Given the description of an element on the screen output the (x, y) to click on. 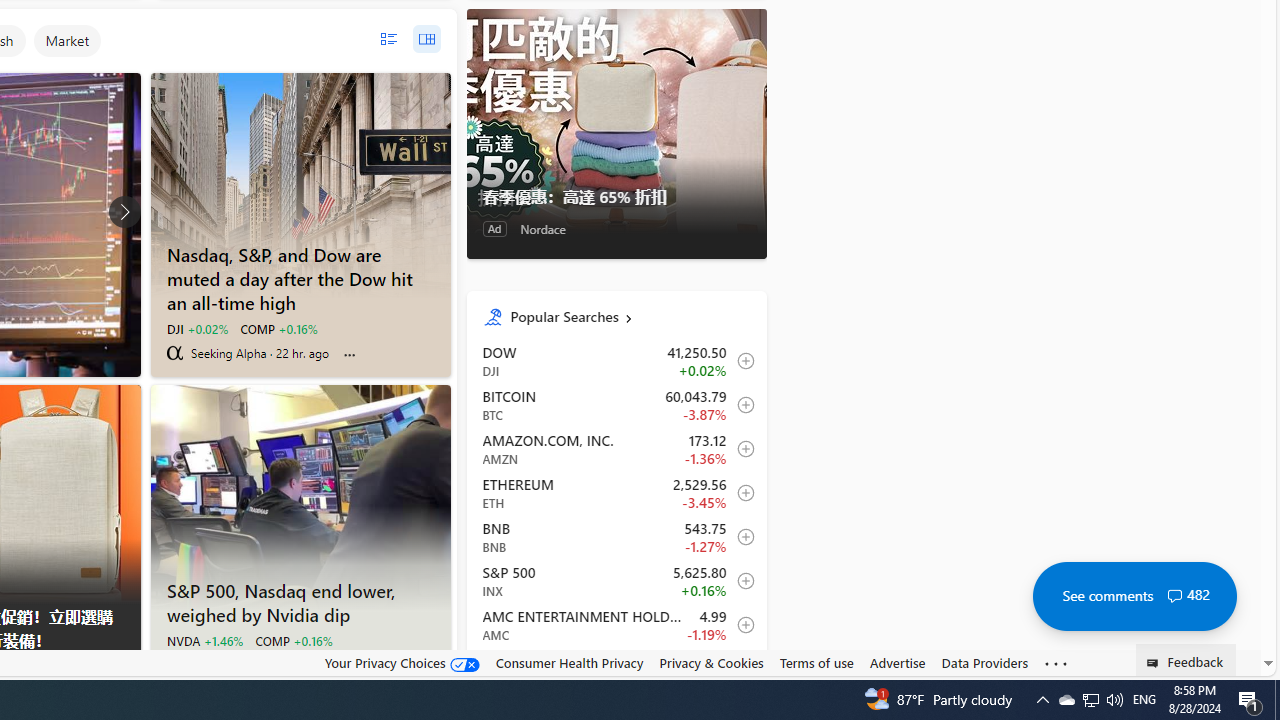
Class: feedback_link_icon-DS-EntryPoint1-1 (1156, 663)
Data Providers (983, 663)
COMP +0.16% (292, 640)
Privacy & Cookies (711, 663)
Consumer Health Privacy (569, 663)
Class: oneFooter_seeMore-DS-EntryPoint1-1 (1055, 663)
DJI +0.02% (196, 328)
Consumer Health Privacy (569, 662)
S&P 500, Nasdaq end lower, weighed by Nvidia dip - Reuters (299, 497)
AdChoices (123, 668)
S&P 500, Nasdaq end lower, weighed by Nvidia dip - Reuters (300, 600)
INX S&P 500 increase 5,625.80 +8.96 +0.16% itemundefined (615, 580)
ETH Ethereum decrease 2,529.56 -87.30 -3.45% itemundefined (615, 492)
